Given the description of an element on the screen output the (x, y) to click on. 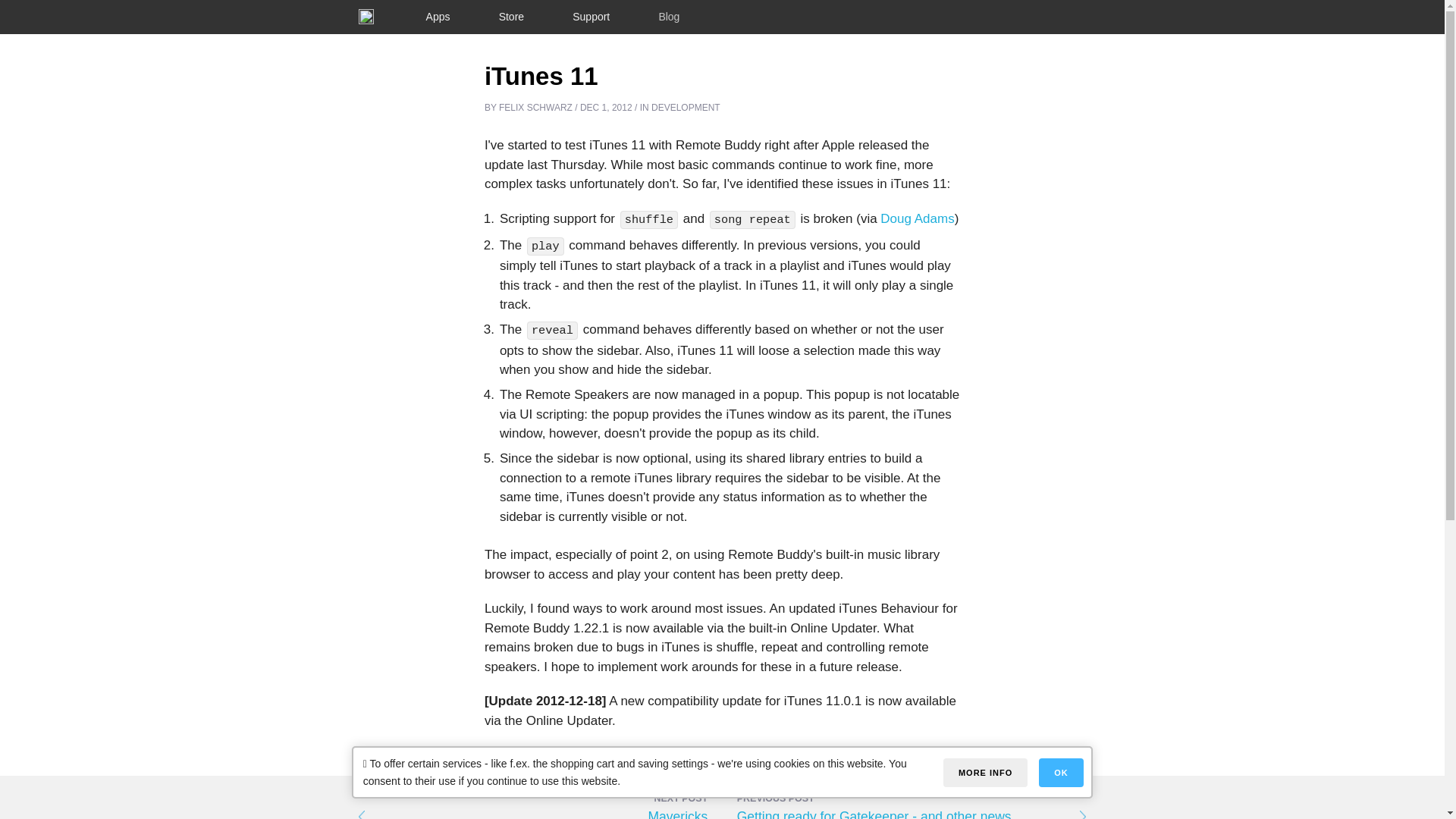
Apps (437, 16)
Mavericks (532, 812)
iTunes 11 (541, 76)
Getting ready for Gatekeeper - and other news (911, 812)
FELIX SCHWARZ (535, 107)
DEVELOPMENT (685, 107)
Doug Adams (916, 218)
Support (591, 16)
Blog (668, 16)
MORE INFO (985, 772)
Store (511, 16)
